Given the description of an element on the screen output the (x, y) to click on. 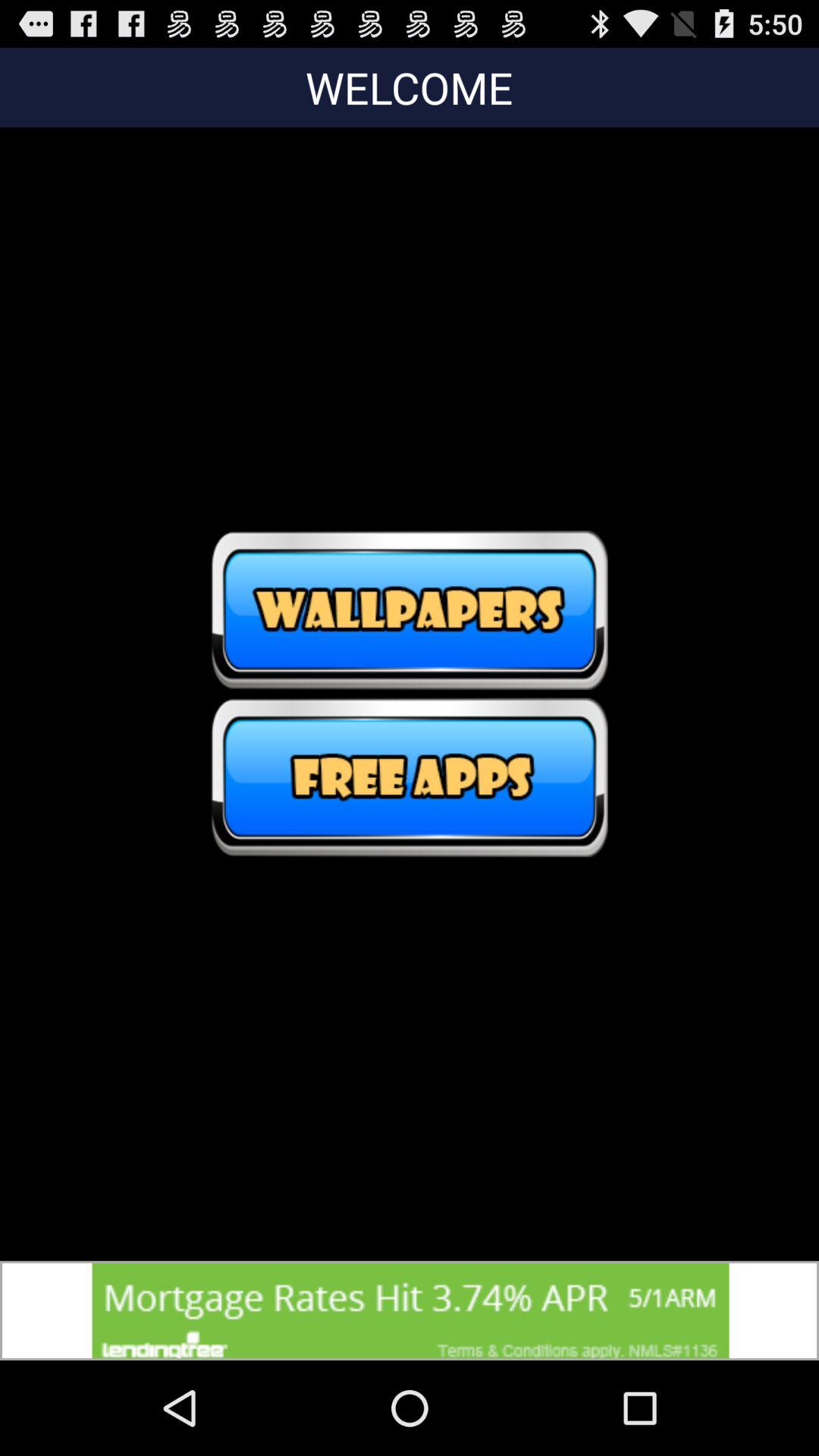
go to wall paper option (409, 609)
